Given the description of an element on the screen output the (x, y) to click on. 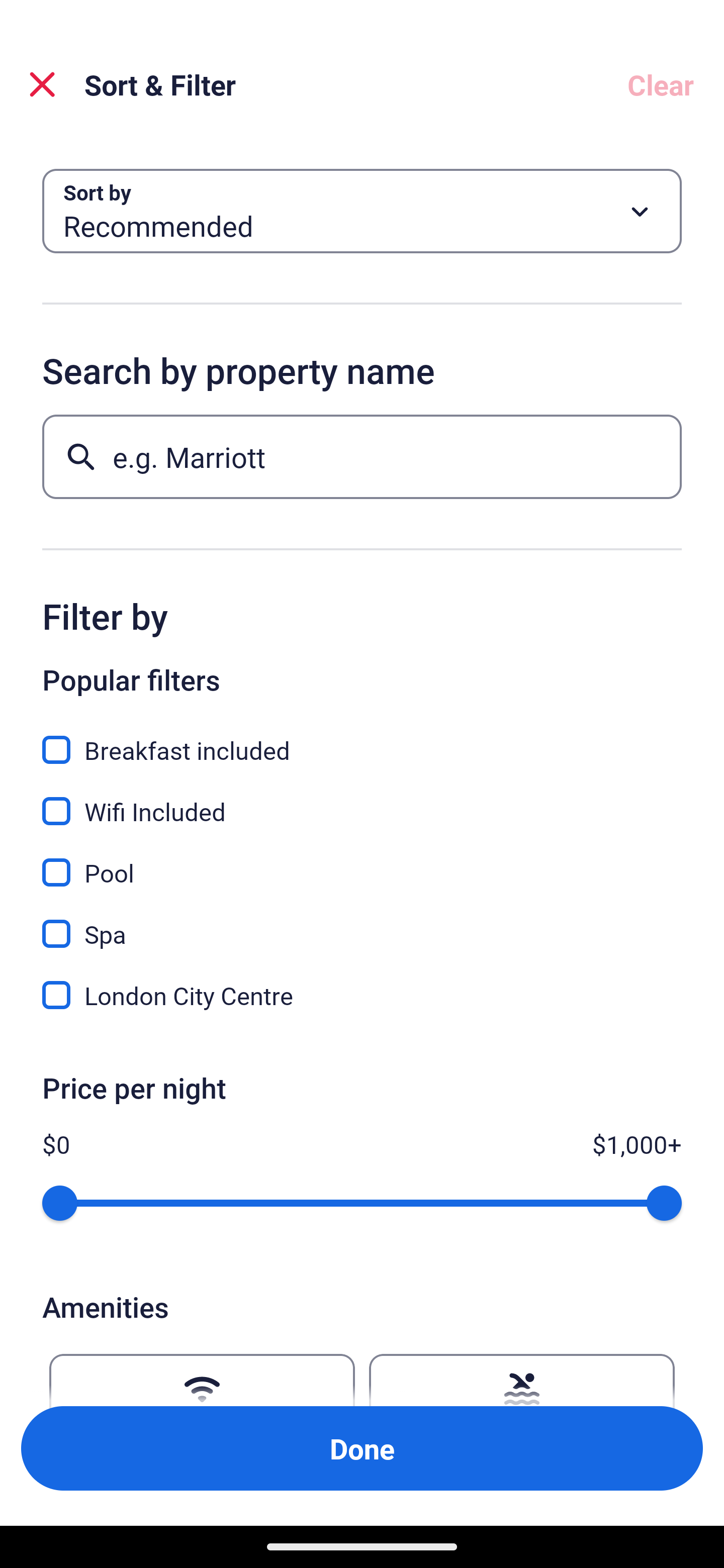
Close Sort and Filter (42, 84)
Clear (660, 84)
Sort by Button Recommended (361, 211)
e.g. Marriott Button (361, 455)
Breakfast included, Breakfast included (361, 738)
Wifi Included, Wifi Included (361, 800)
Pool, Pool (361, 861)
Spa, Spa (361, 922)
London City Centre, London City Centre (361, 995)
Apply and close Sort and Filter Done (361, 1448)
